Given the description of an element on the screen output the (x, y) to click on. 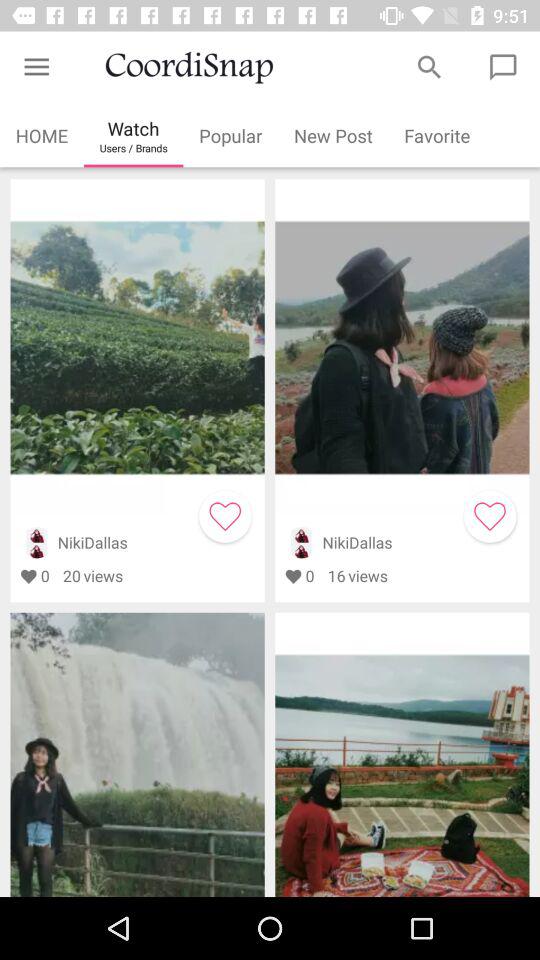
click to like symbol (489, 516)
